Given the description of an element on the screen output the (x, y) to click on. 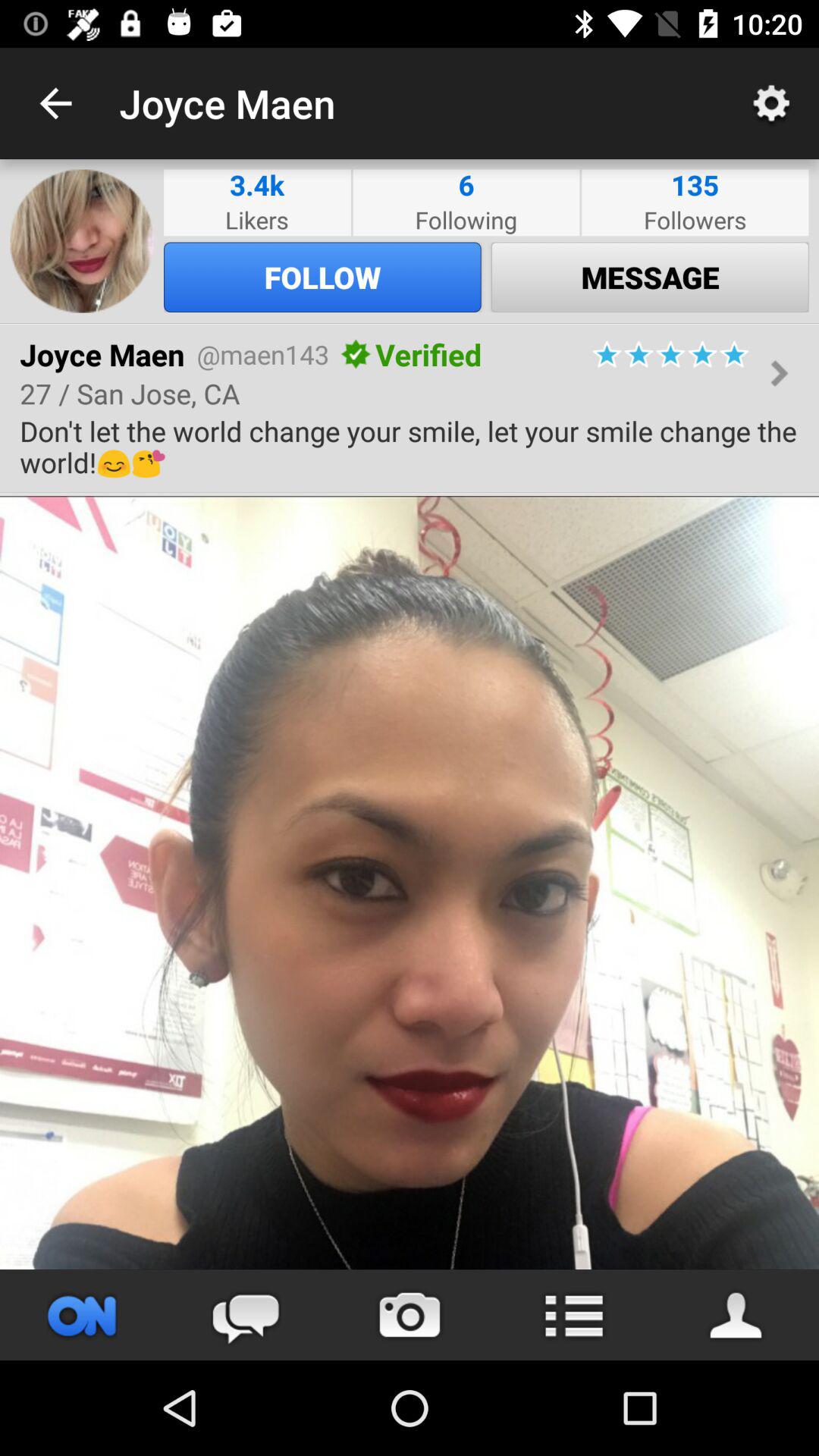
open item next to followers item (466, 184)
